Given the description of an element on the screen output the (x, y) to click on. 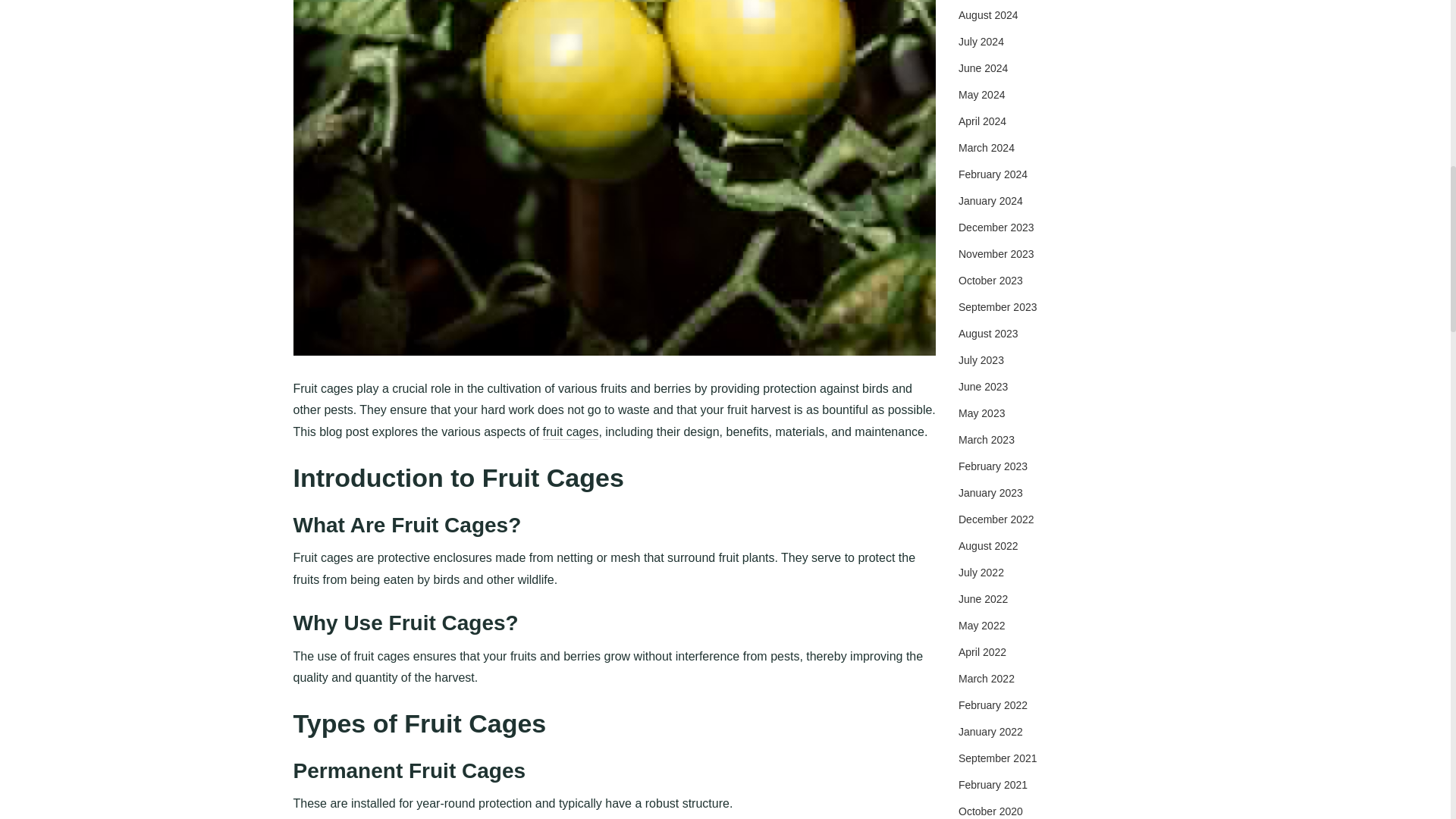
December 2023 (995, 227)
March 2024 (986, 147)
January 2024 (990, 200)
August 2024 (987, 15)
February 2024 (992, 174)
May 2024 (981, 94)
October 2023 (990, 280)
November 2023 (995, 254)
July 2024 (981, 41)
fruit cages (570, 432)
